Given the description of an element on the screen output the (x, y) to click on. 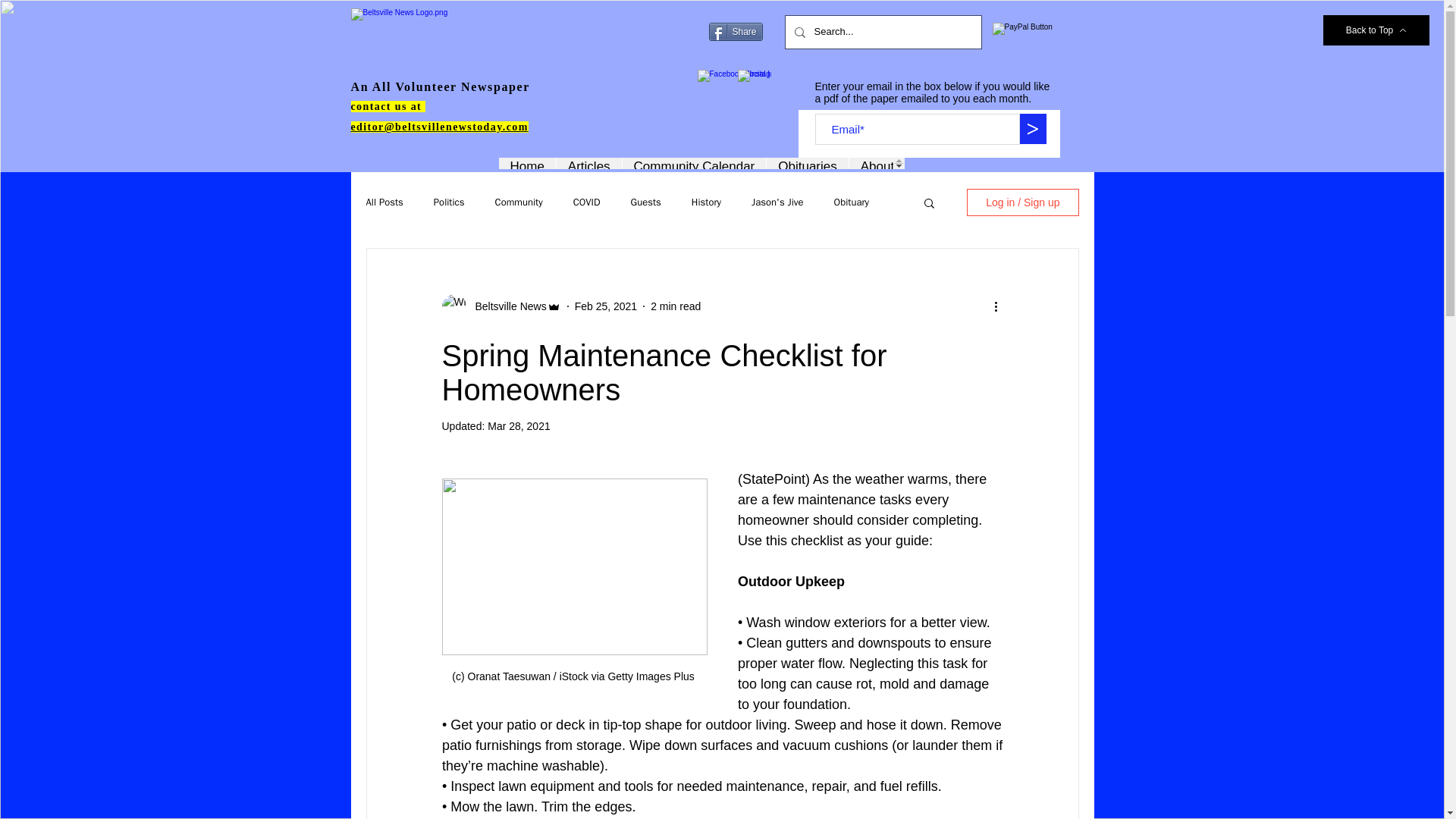
Community (519, 202)
Guests (645, 202)
Beltsville News (505, 306)
Obituary (851, 202)
Mar 28, 2021 (518, 426)
2 min read (675, 306)
COVID (586, 202)
Share (734, 31)
Back to Top (1376, 30)
Share (734, 31)
Politics (448, 202)
Jason's Jive (777, 202)
Home (527, 163)
Feb 25, 2021 (606, 306)
All Posts (384, 202)
